Given the description of an element on the screen output the (x, y) to click on. 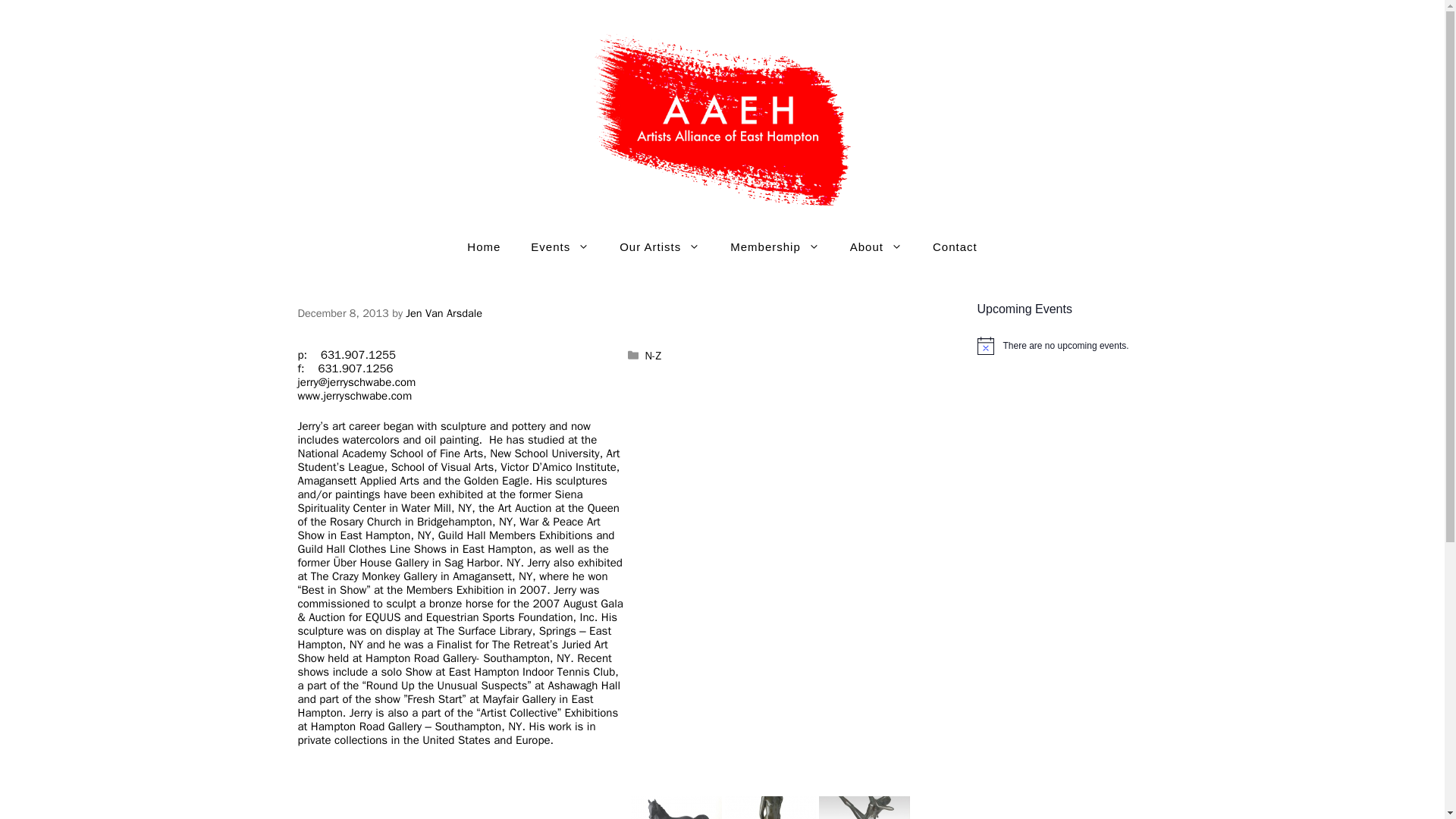
Home (483, 247)
View all posts by Jen Van Arsdale (443, 313)
Membership (774, 247)
Events (559, 247)
Our Artists (659, 247)
Contact (954, 247)
About (875, 247)
